Given the description of an element on the screen output the (x, y) to click on. 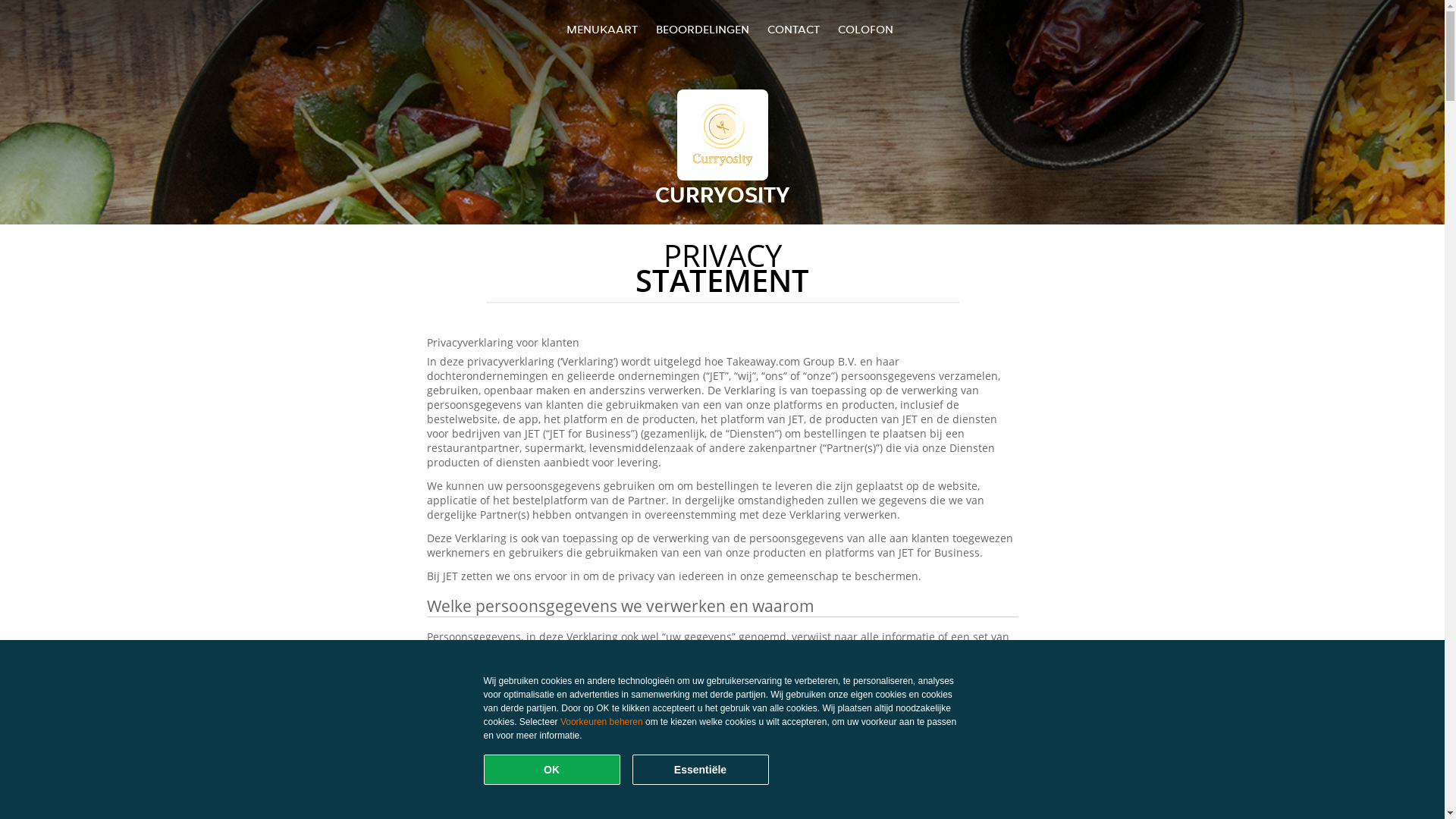
BEOORDELINGEN Element type: text (702, 29)
COLOFON Element type: text (865, 29)
OK Element type: text (551, 769)
Voorkeuren beheren Element type: text (601, 721)
CONTACT Element type: text (793, 29)
MENUKAART Element type: text (601, 29)
